Given the description of an element on the screen output the (x, y) to click on. 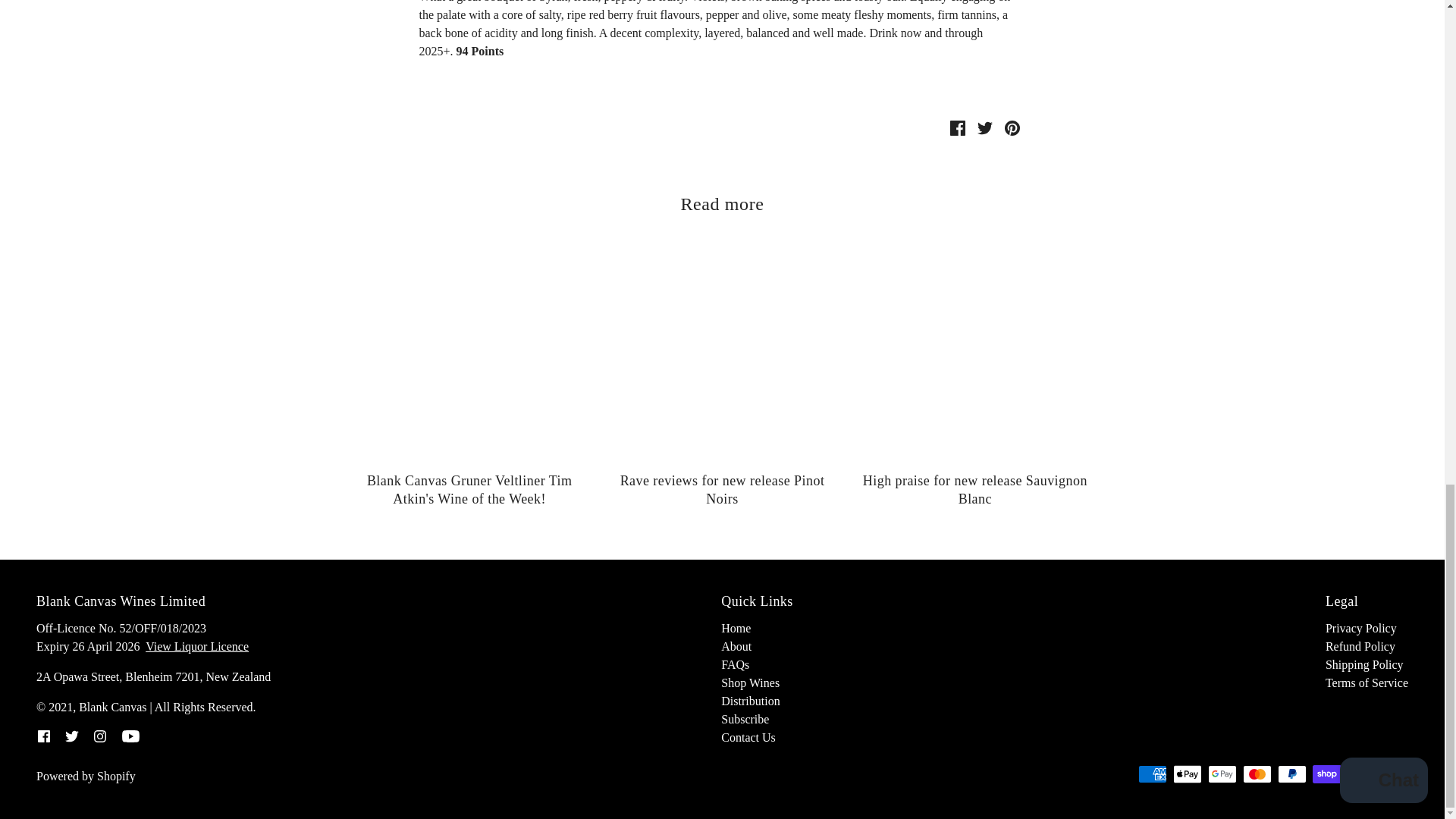
Distribution (749, 700)
Shop Pay (1326, 773)
PayPal (1292, 773)
FAQs (734, 664)
Visa (1395, 773)
Terms of Service (1365, 682)
Blank Canvas Wines Liquor Licence (196, 645)
Google Pay (1222, 773)
American Express (1152, 773)
Union Pay (1361, 773)
